Given the description of an element on the screen output the (x, y) to click on. 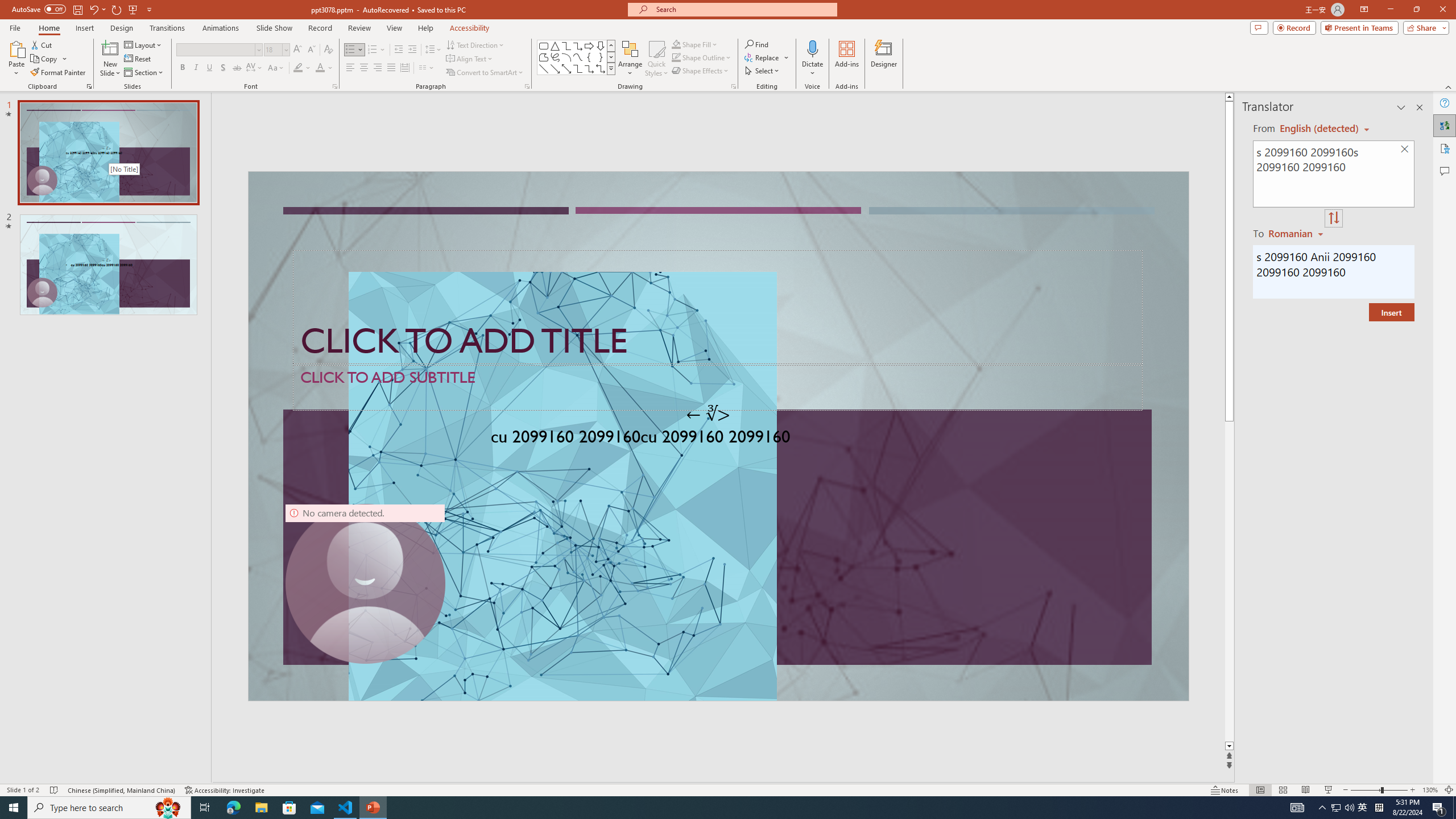
Line Arrow: Double (566, 68)
TextBox 7 (708, 414)
